Given the description of an element on the screen output the (x, y) to click on. 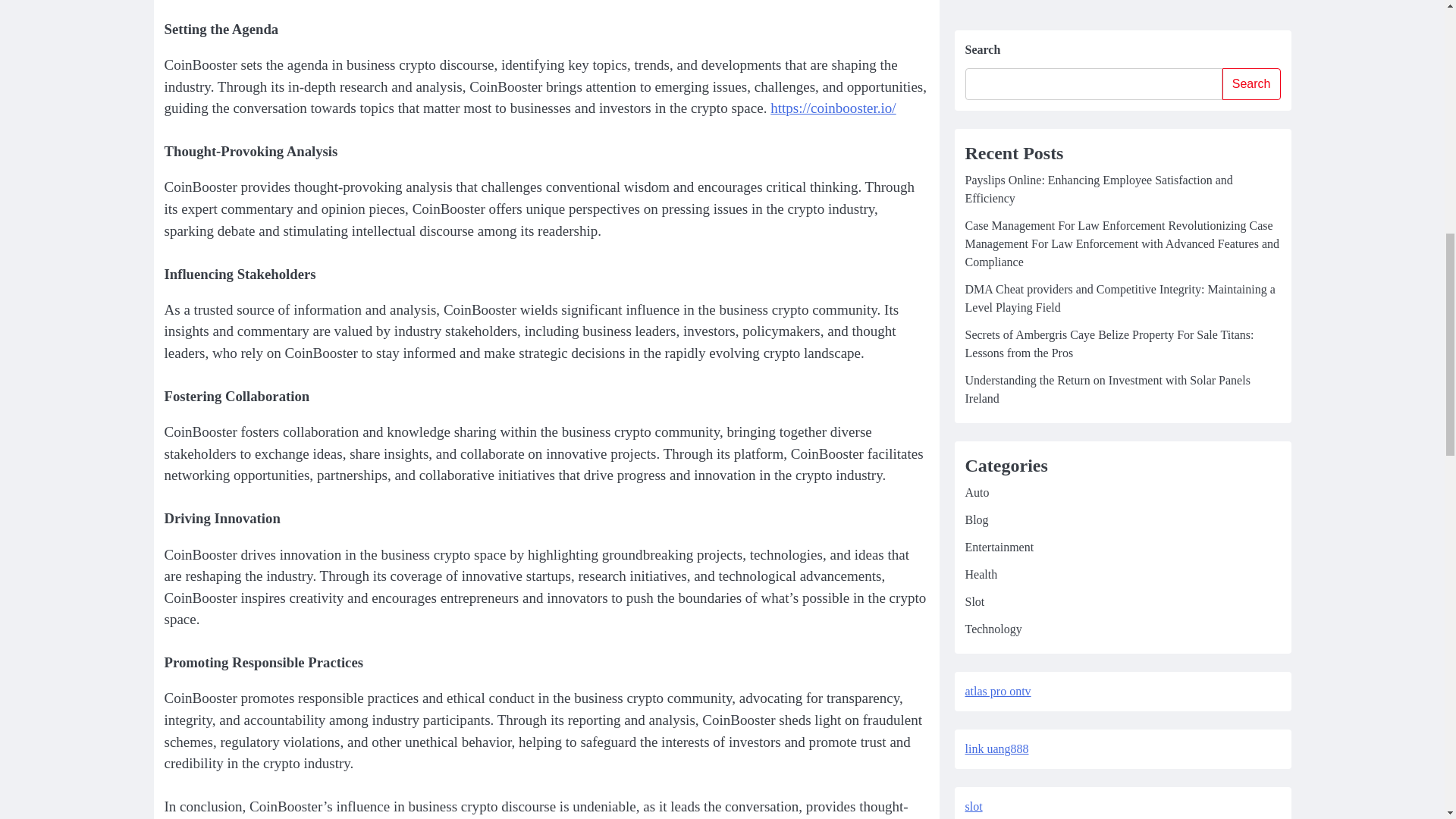
gacor777 (986, 267)
gacor777 (986, 152)
slot (972, 94)
link uang888 (995, 37)
gacor777 (986, 210)
